Given the description of an element on the screen output the (x, y) to click on. 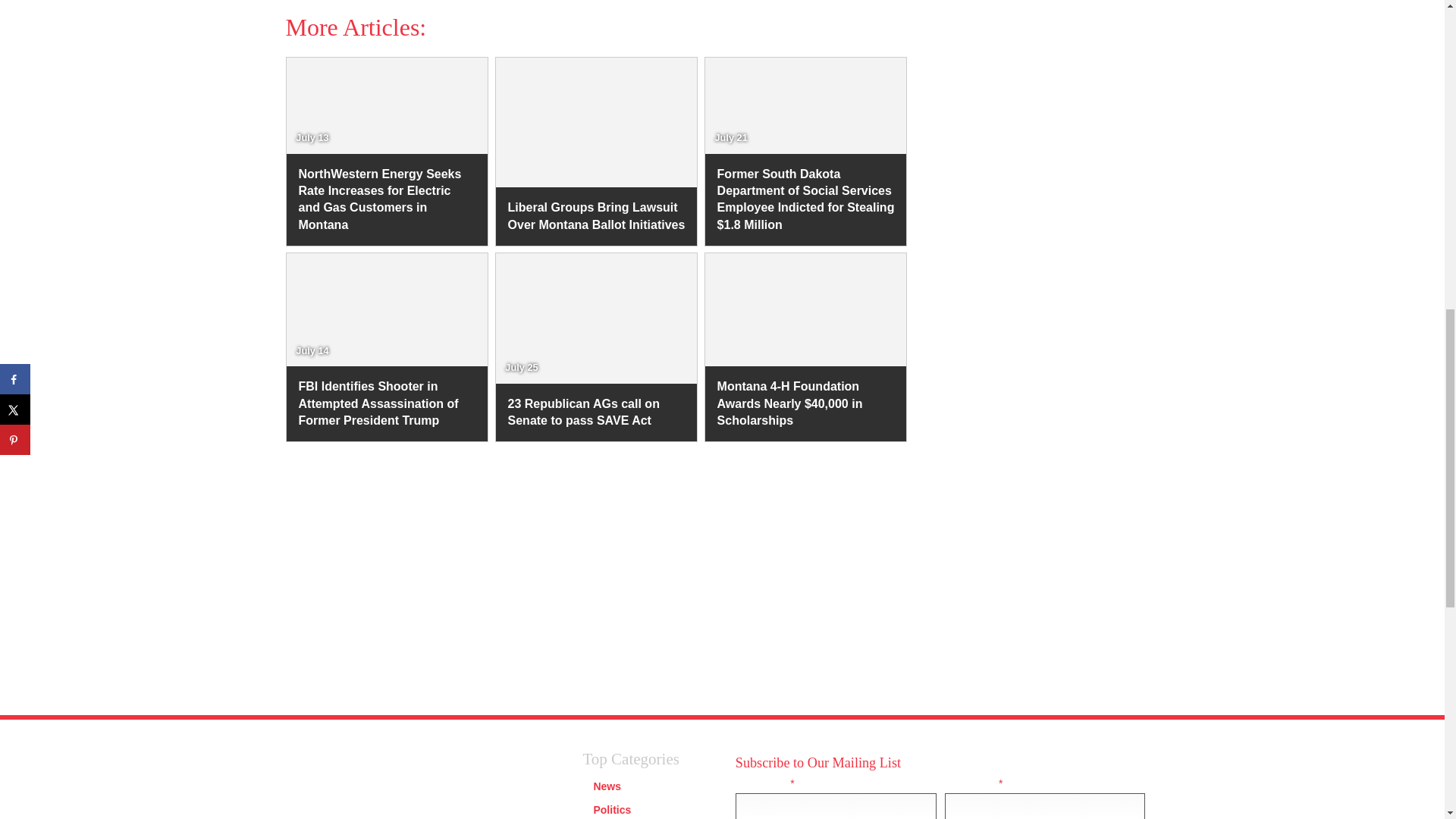
News Category (606, 786)
Politics (611, 809)
Politics Category (611, 809)
Liberal Groups Bring Lawsuit Over Montana Ballot Initiatives (596, 216)
Liberal Groups Bring Lawsuit Over Montana Ballot Initiatives (596, 216)
News (606, 786)
23 Republican AGs call on Senate to pass SAVE Act (596, 413)
23 Republican AGs call on Senate to pass SAVE Act (596, 413)
Advertisement (1061, 83)
